Given the description of an element on the screen output the (x, y) to click on. 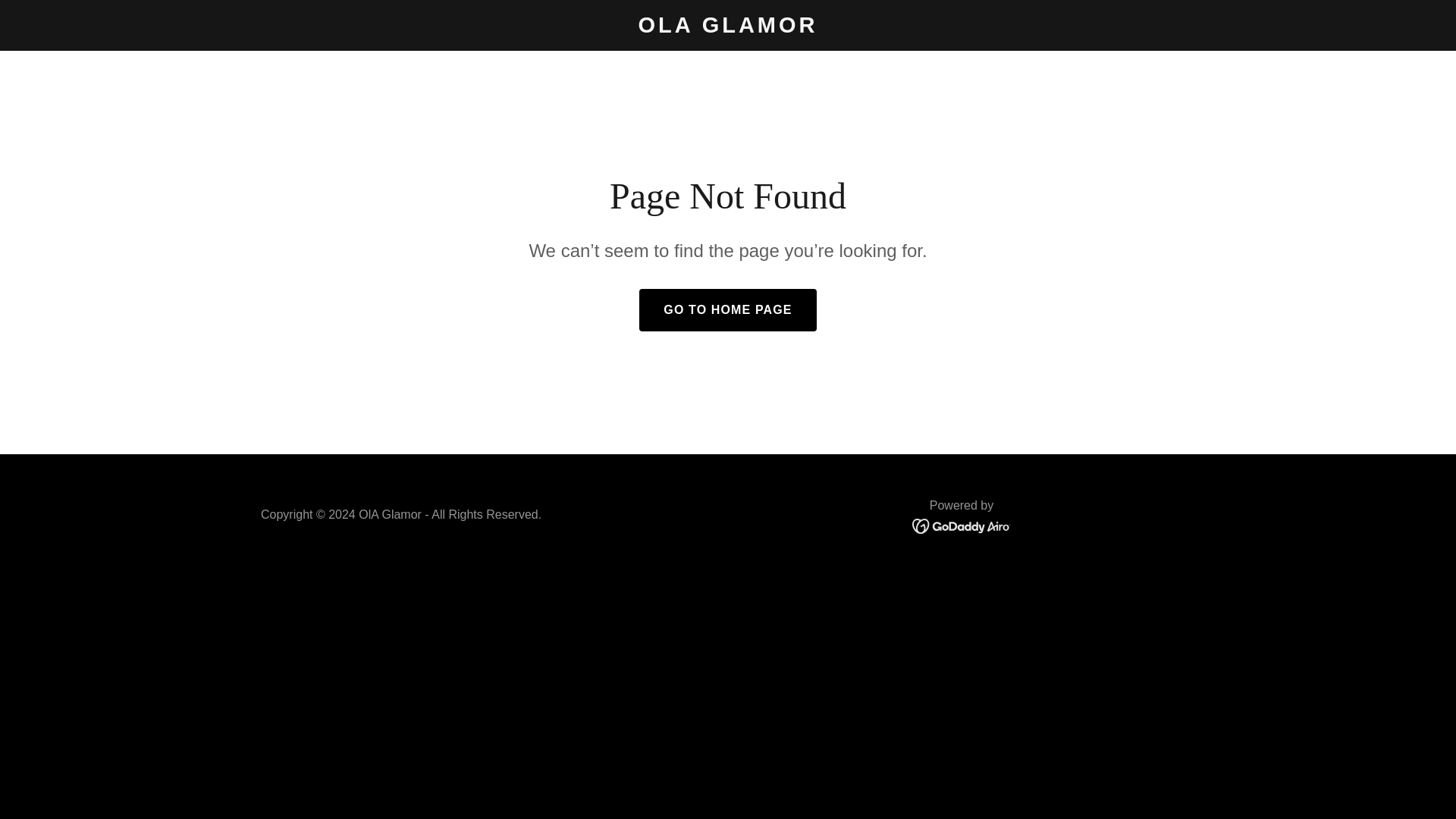
OlA Glamor (727, 28)
GO TO HOME PAGE (727, 310)
OLA GLAMOR (727, 28)
